Given the description of an element on the screen output the (x, y) to click on. 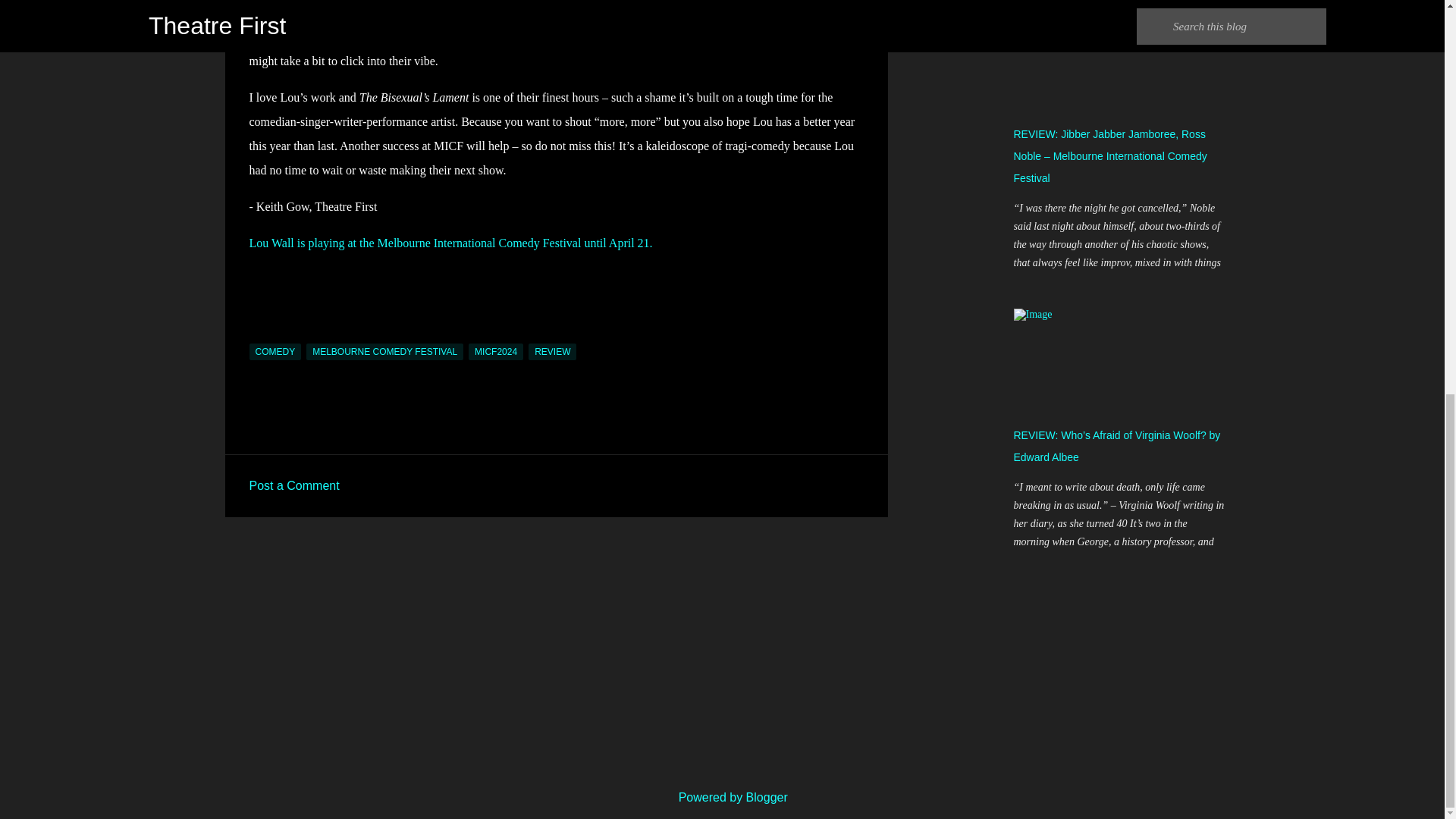
REVIEW (552, 351)
Powered by Blogger (721, 797)
MELBOURNE COMEDY FESTIVAL (384, 351)
COMEDY (274, 351)
Post a Comment (293, 485)
MICF2024 (495, 351)
